Given the description of an element on the screen output the (x, y) to click on. 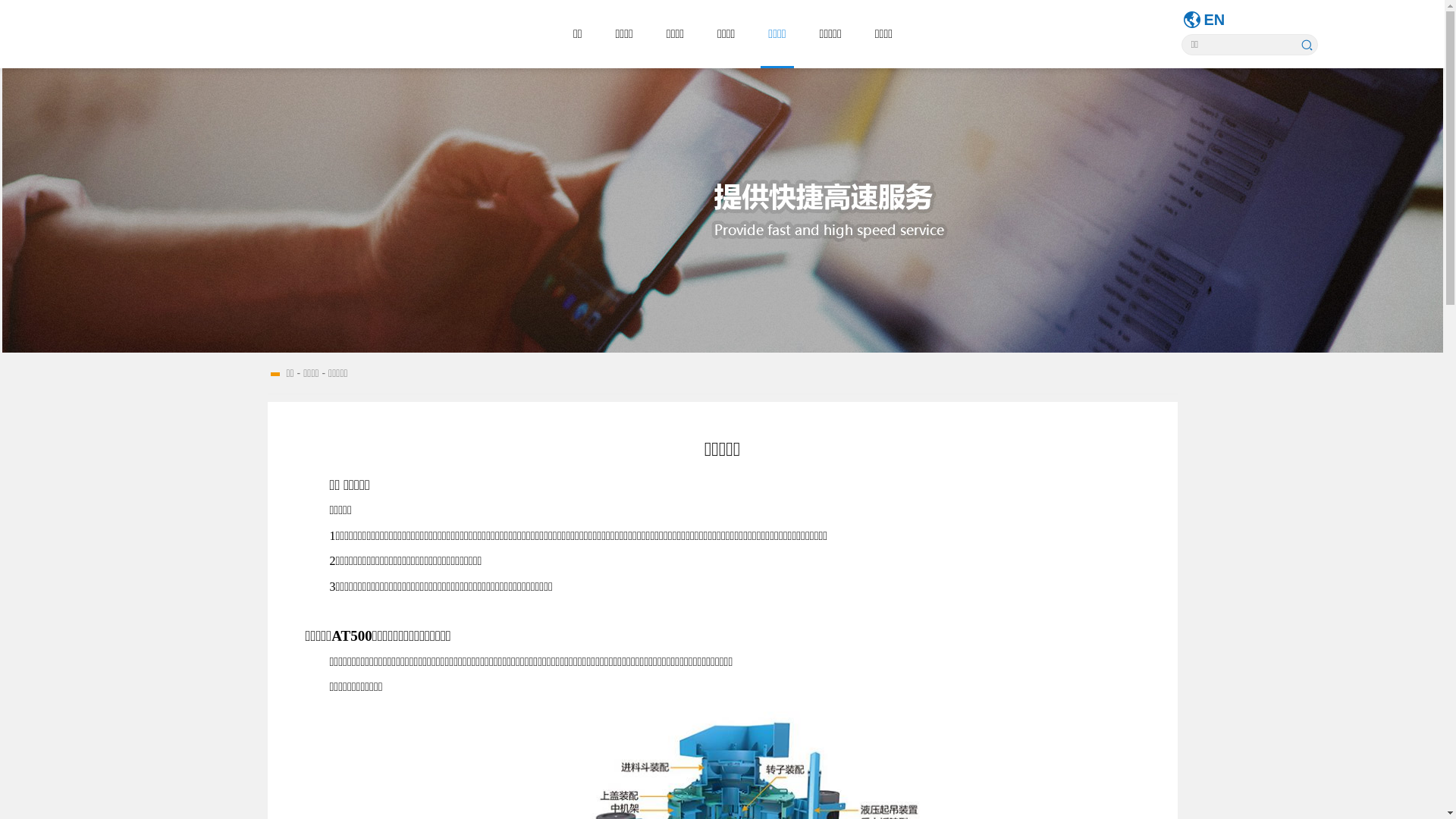
EN Element type: text (1214, 19)
